Given the description of an element on the screen output the (x, y) to click on. 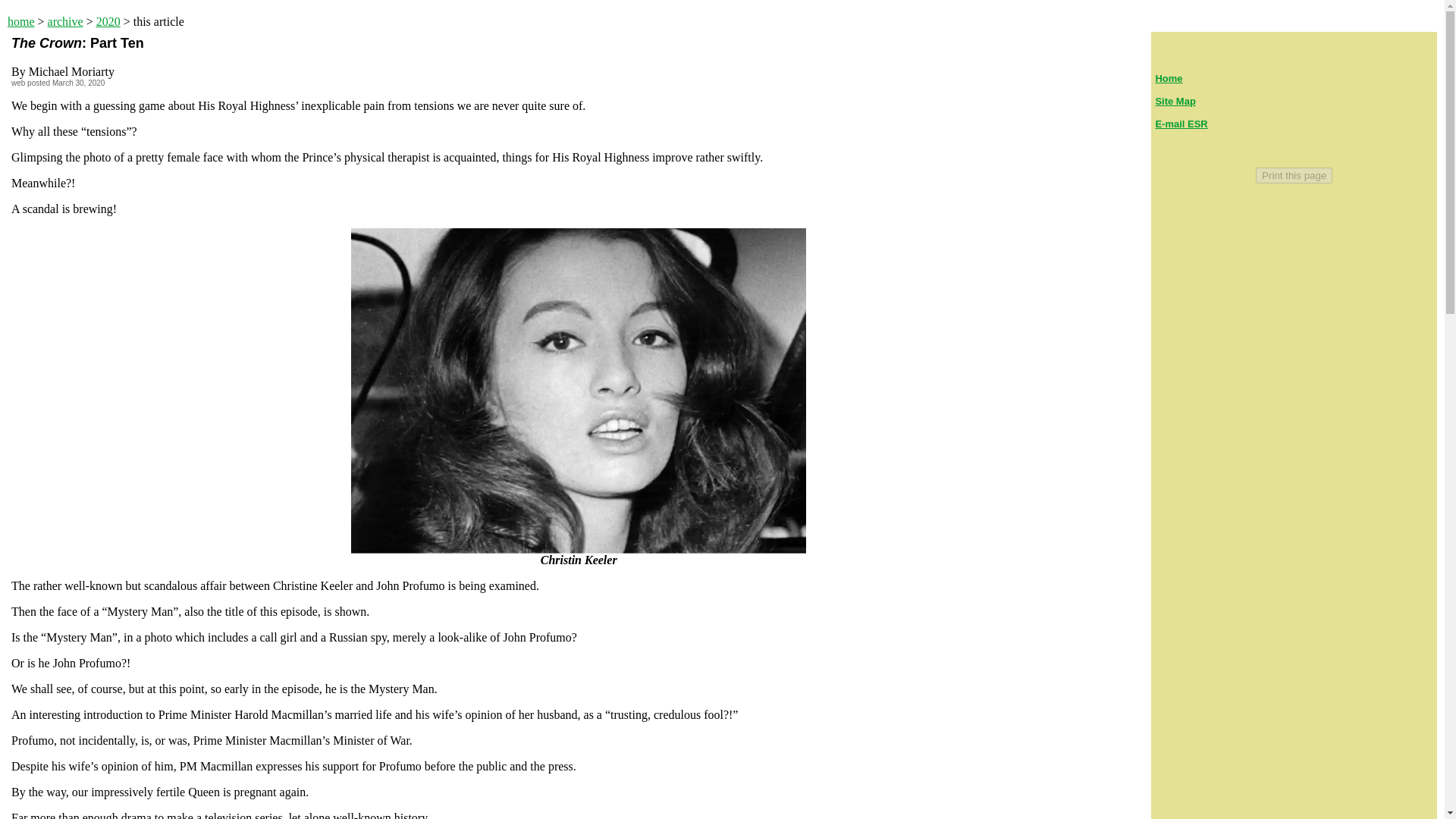
E-mail ESR (1180, 123)
Home (1168, 78)
home (20, 21)
Print this page (1293, 175)
2020 (108, 21)
archive (65, 21)
Site Map (1174, 101)
